Given the description of an element on the screen output the (x, y) to click on. 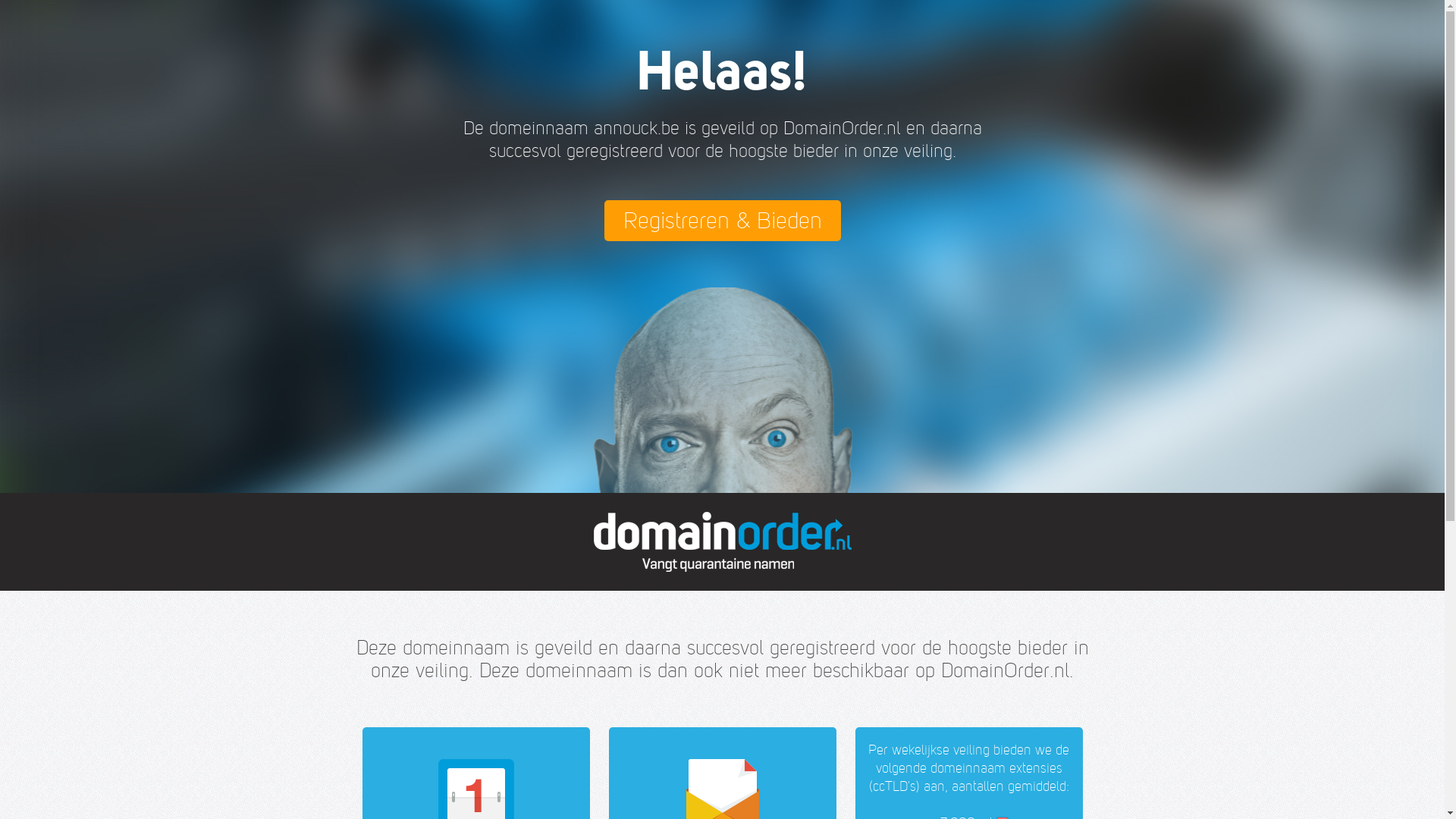
Registreren & Bieden Element type: text (721, 220)
